Given the description of an element on the screen output the (x, y) to click on. 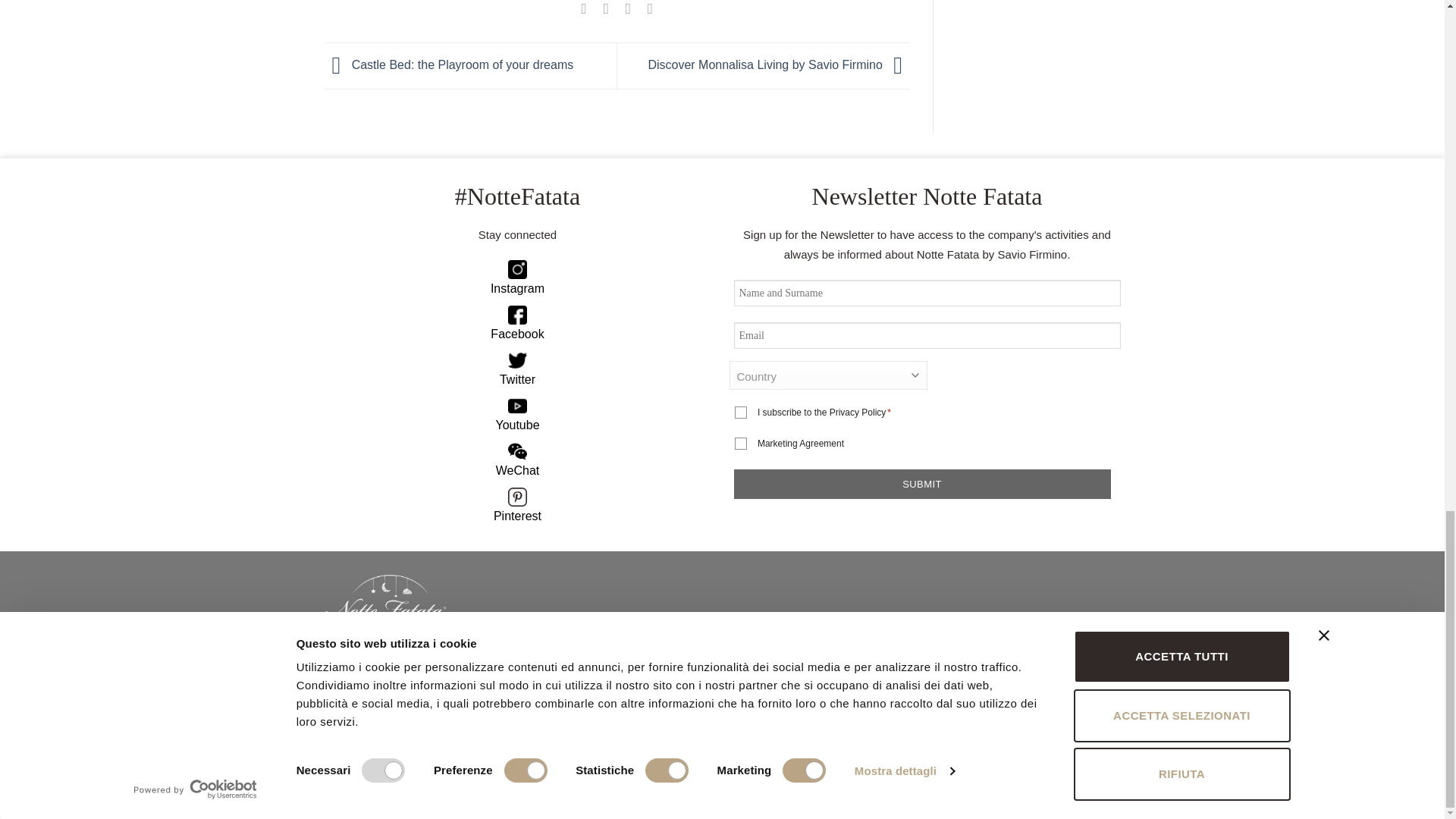
Submit (921, 483)
